Given the description of an element on the screen output the (x, y) to click on. 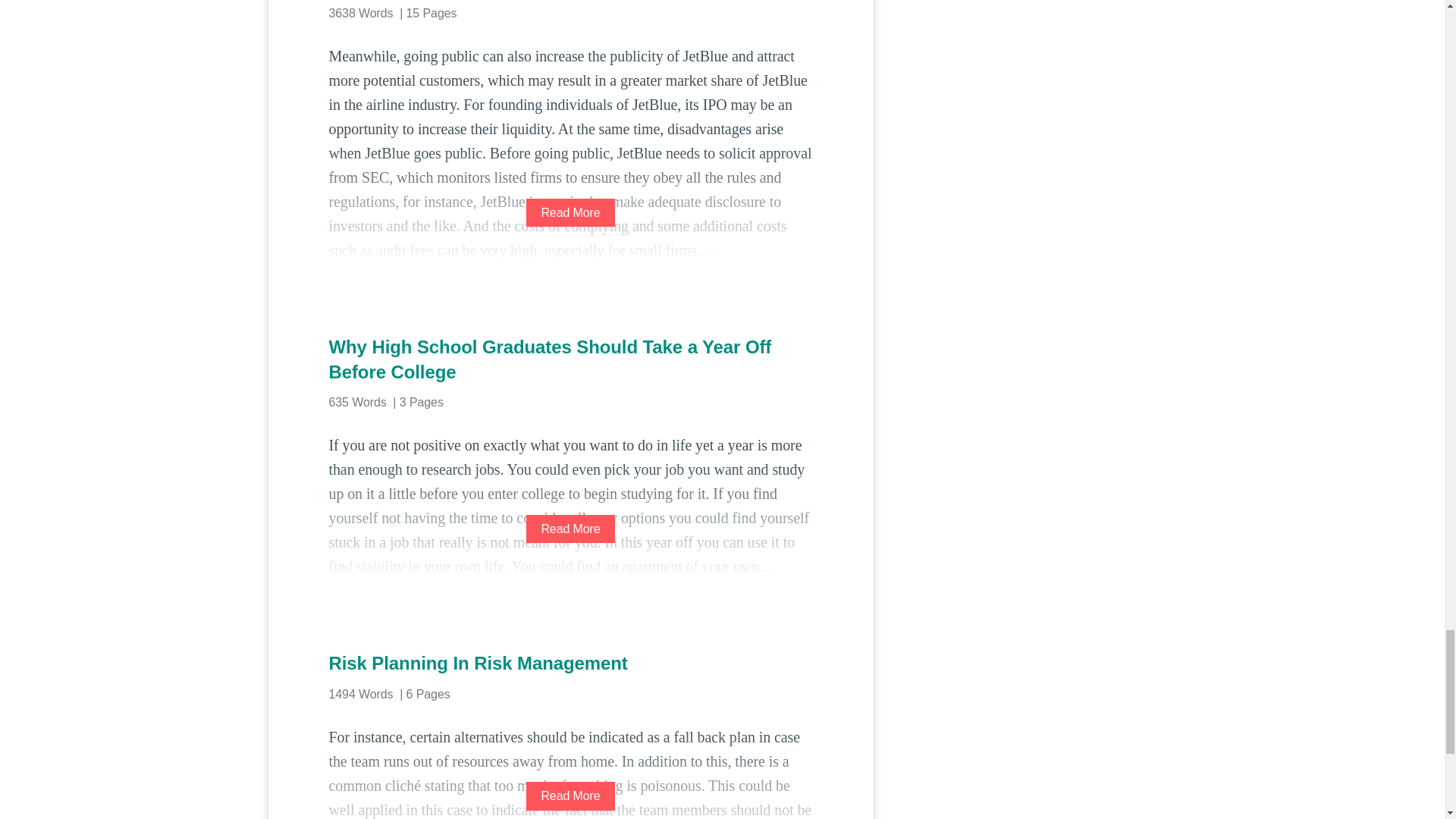
Read More (569, 528)
Risk Planning In Risk Management (570, 663)
Read More (569, 795)
Read More (569, 212)
